Given the description of an element on the screen output the (x, y) to click on. 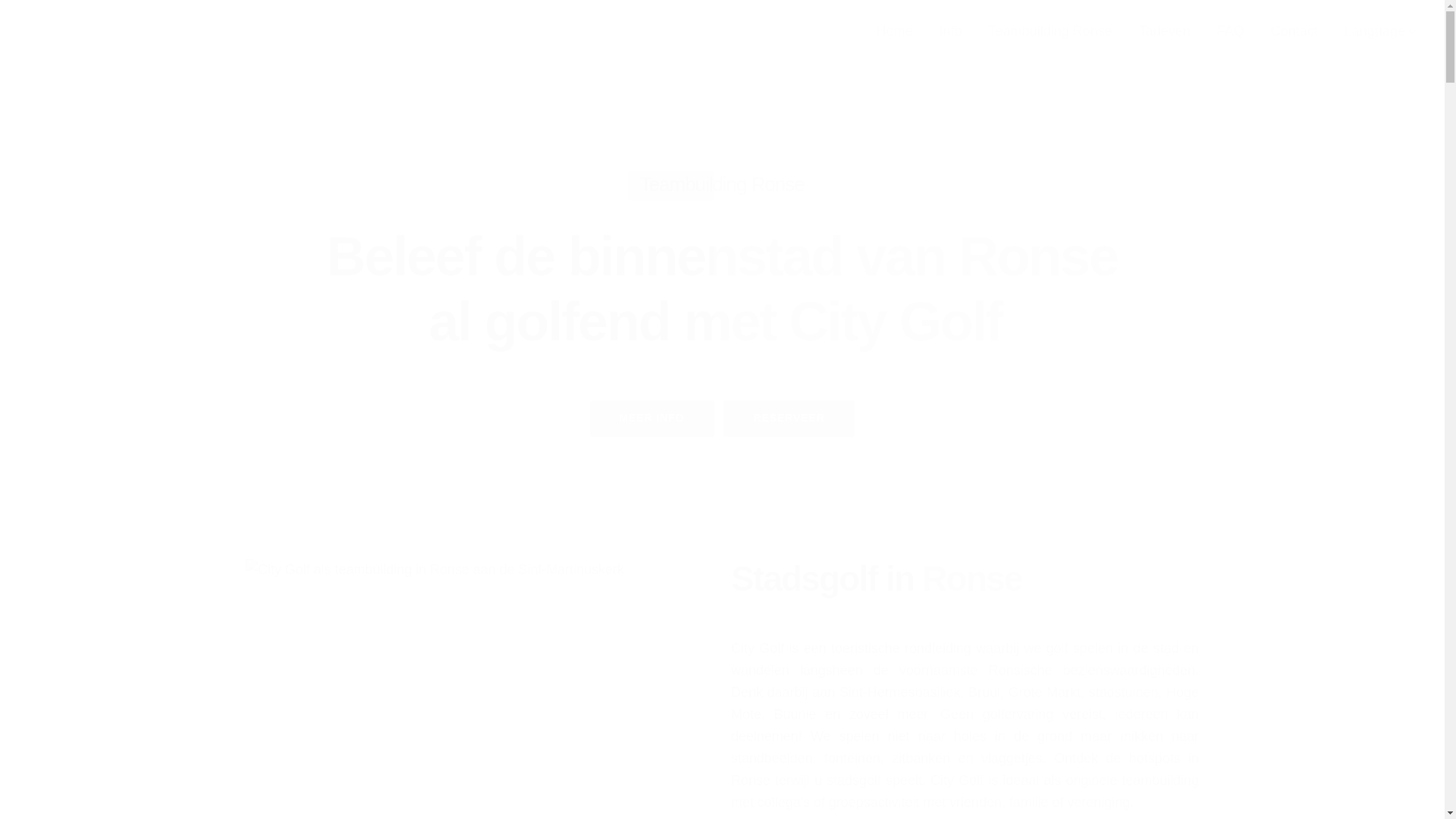
Teambuilding Ronse Element type: text (1050, 32)
Info Element type: text (950, 32)
Tarieven Element type: text (1164, 32)
RESERVEER Element type: text (789, 418)
Language Element type: text (1379, 32)
FAQ Element type: text (1230, 32)
Contact Element type: text (1293, 32)
Home Element type: text (894, 32)
MEER INFO Element type: text (651, 418)
